Given the description of an element on the screen output the (x, y) to click on. 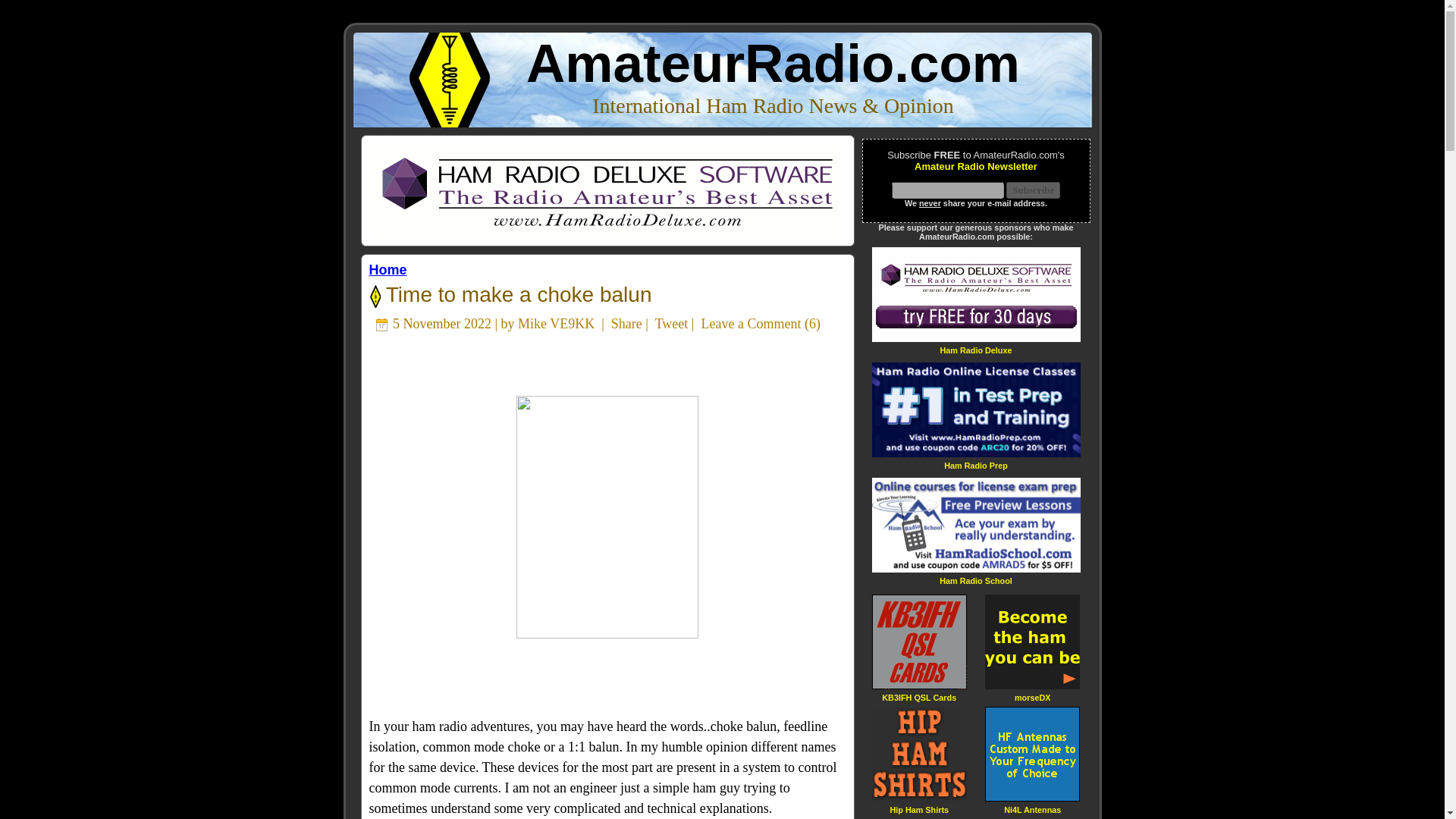
Tweet (671, 323)
Share (626, 323)
Time to make a choke balun (516, 294)
Subscribe (1032, 190)
Time to make a choke balun (516, 294)
Ham Radio Prep (975, 464)
Ham Radio School (975, 580)
Mike VE9KK (556, 323)
Home (387, 269)
AmateurRadio.com (772, 63)
